Given the description of an element on the screen output the (x, y) to click on. 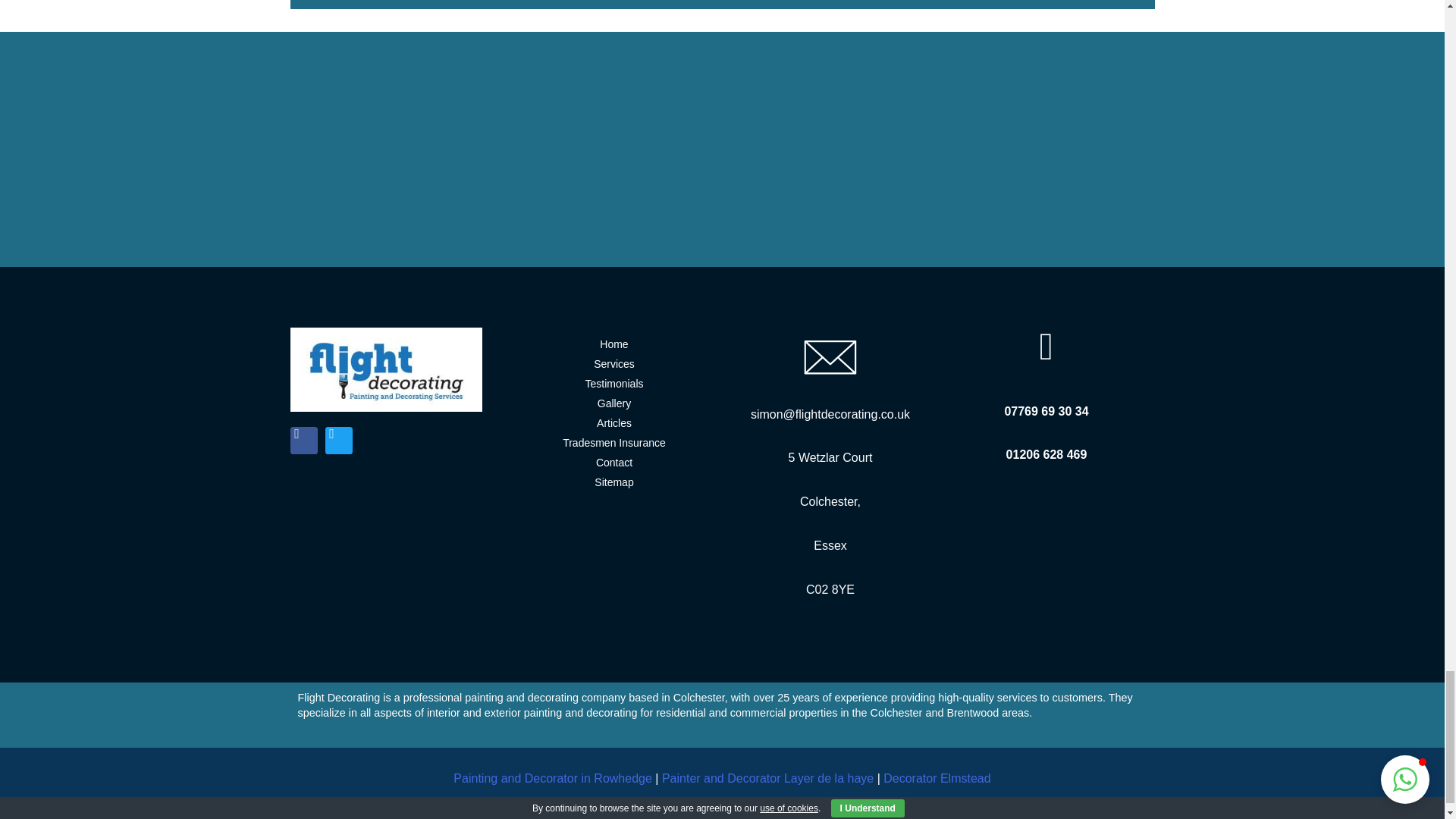
Painting and Decorator in Rowhedge (553, 778)
Decorator Elmstead (936, 778)
Testimonials (613, 383)
Facebook (303, 440)
Contact (613, 463)
Twitter (338, 440)
Sitemap (613, 483)
Articles (613, 424)
Tradesmen Insurance (613, 443)
Services (613, 364)
